Given the description of an element on the screen output the (x, y) to click on. 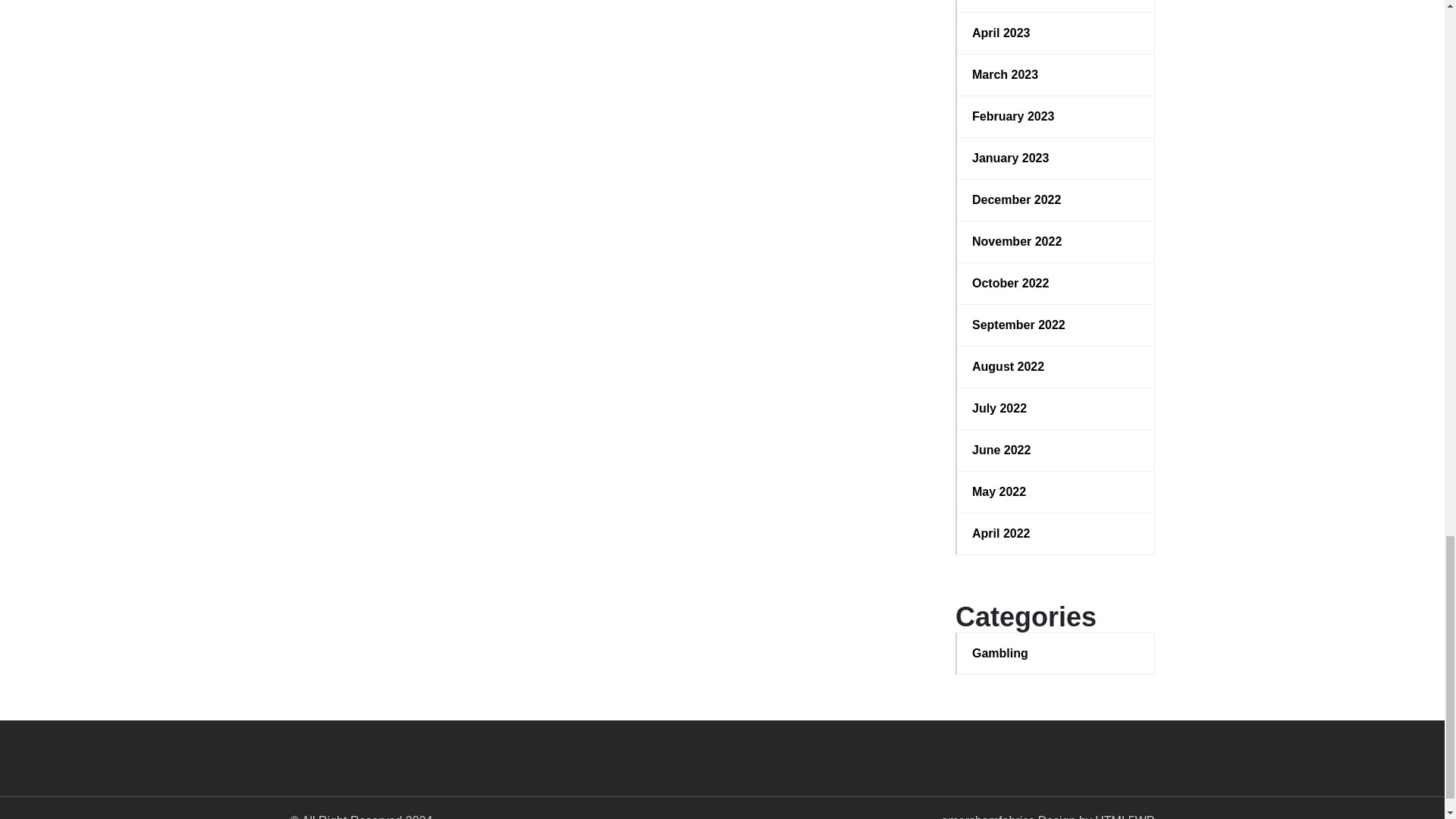
November 2022 (1055, 241)
January 2023 (1055, 158)
February 2023 (1055, 116)
September 2022 (1055, 325)
April 2023 (1055, 33)
December 2022 (1055, 199)
October 2022 (1055, 283)
March 2023 (1055, 75)
